Given the description of an element on the screen output the (x, y) to click on. 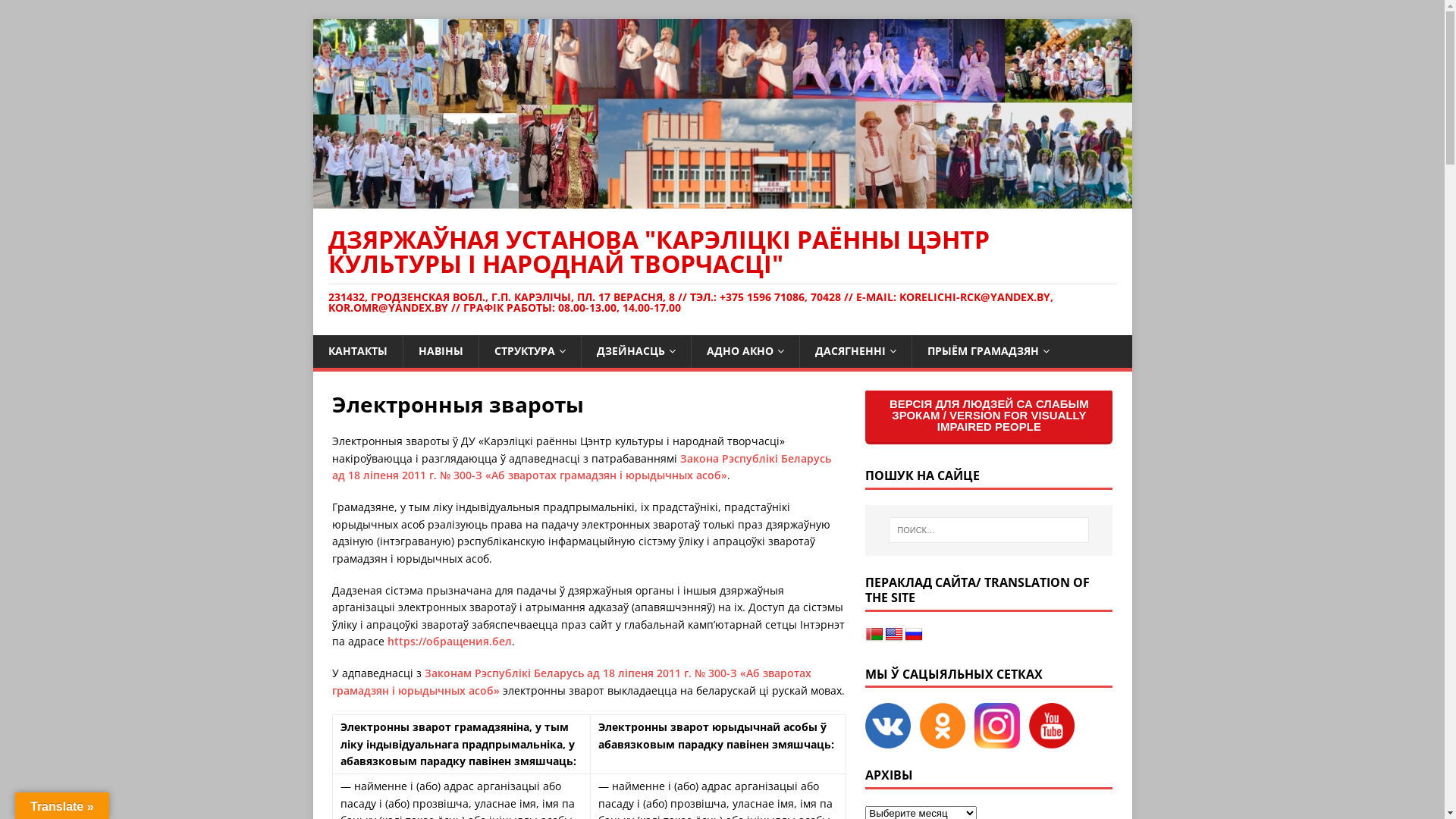
Belarusian Element type: hover (874, 634)
Russian Element type: hover (913, 634)
English Element type: hover (893, 634)
